Given the description of an element on the screen output the (x, y) to click on. 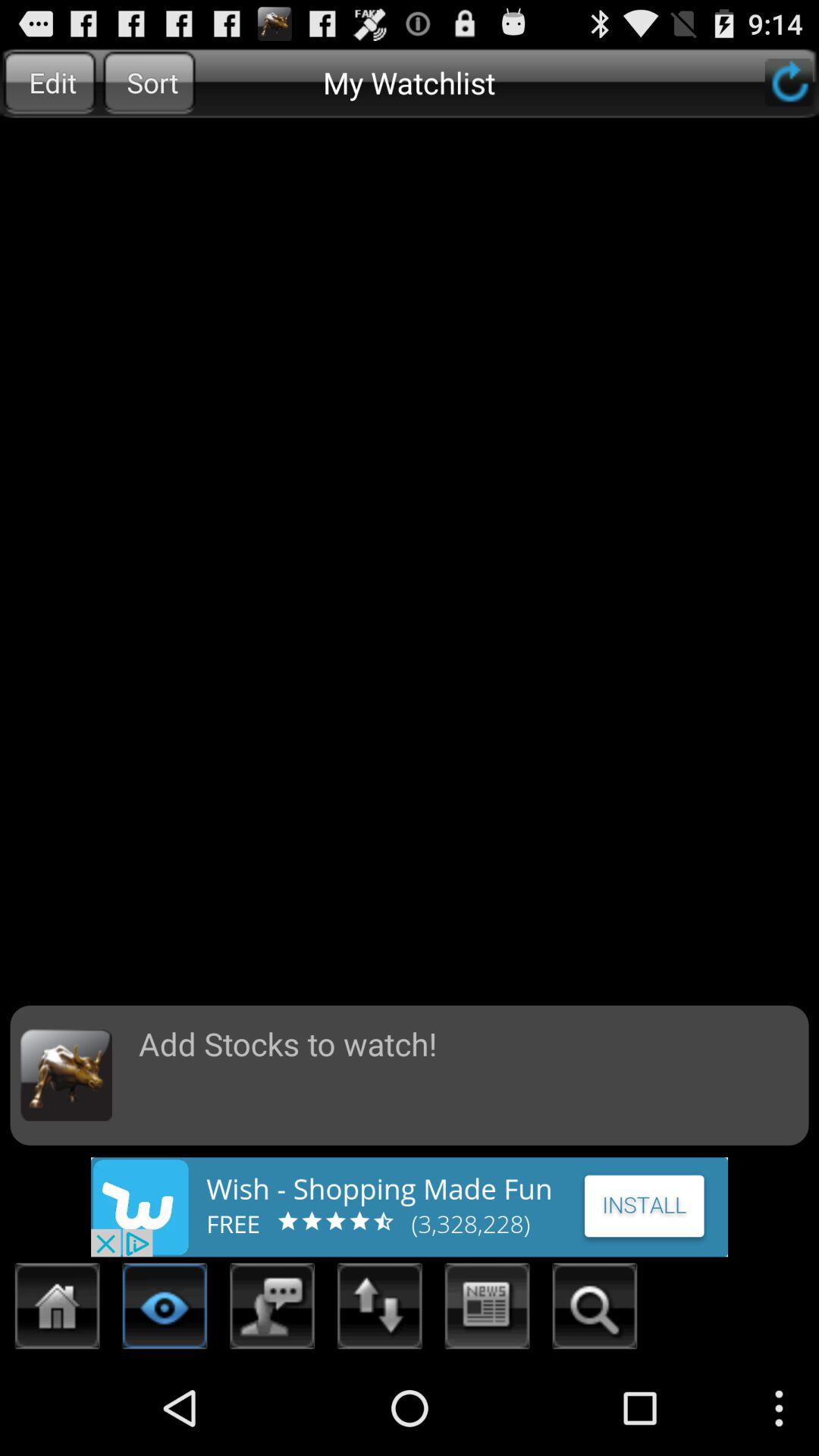
click view (164, 1310)
